Given the description of an element on the screen output the (x, y) to click on. 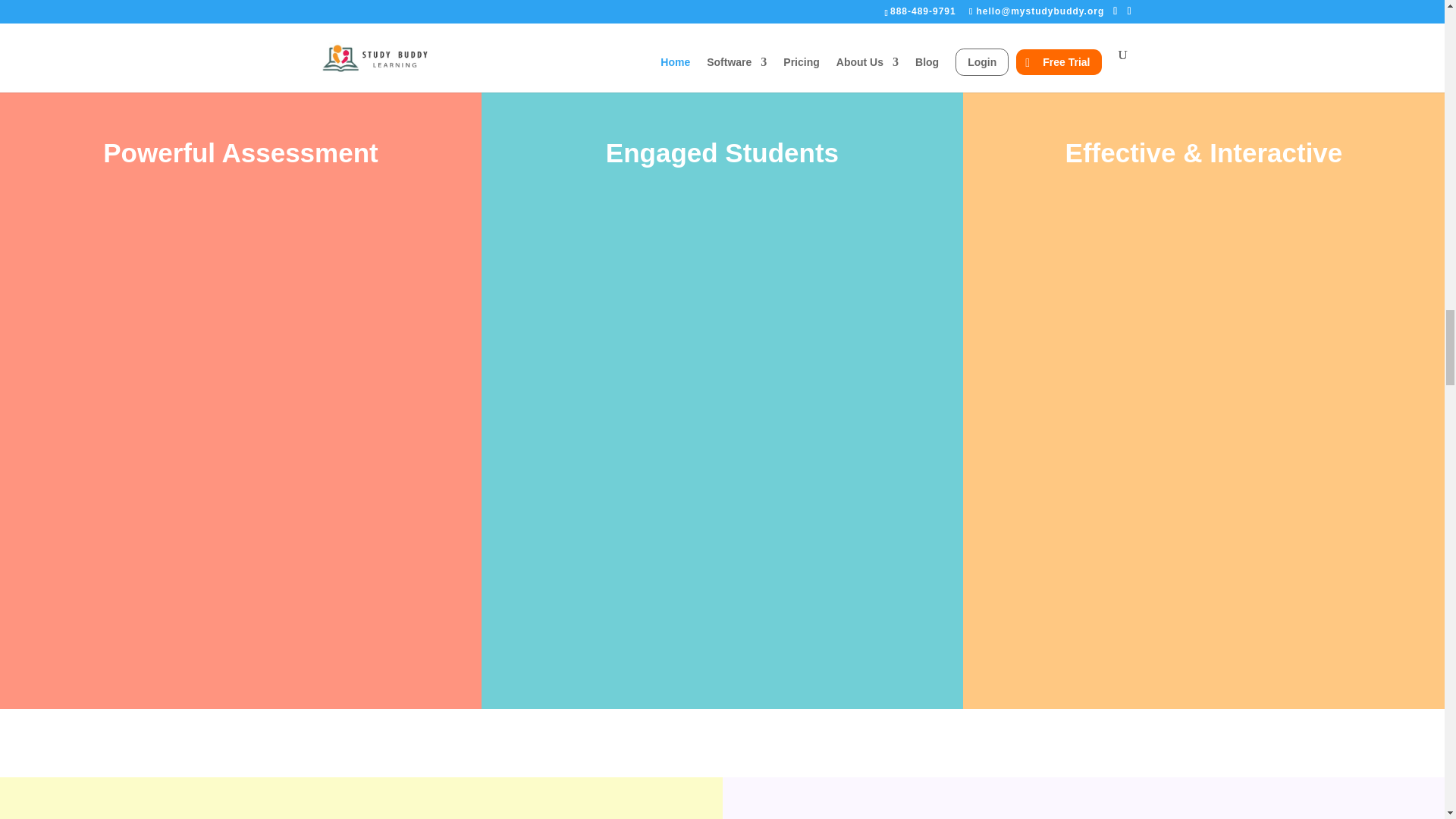
ElementaryMathReadingOnlineLessons-MyStudyBuddy (361, 798)
